Given the description of an element on the screen output the (x, y) to click on. 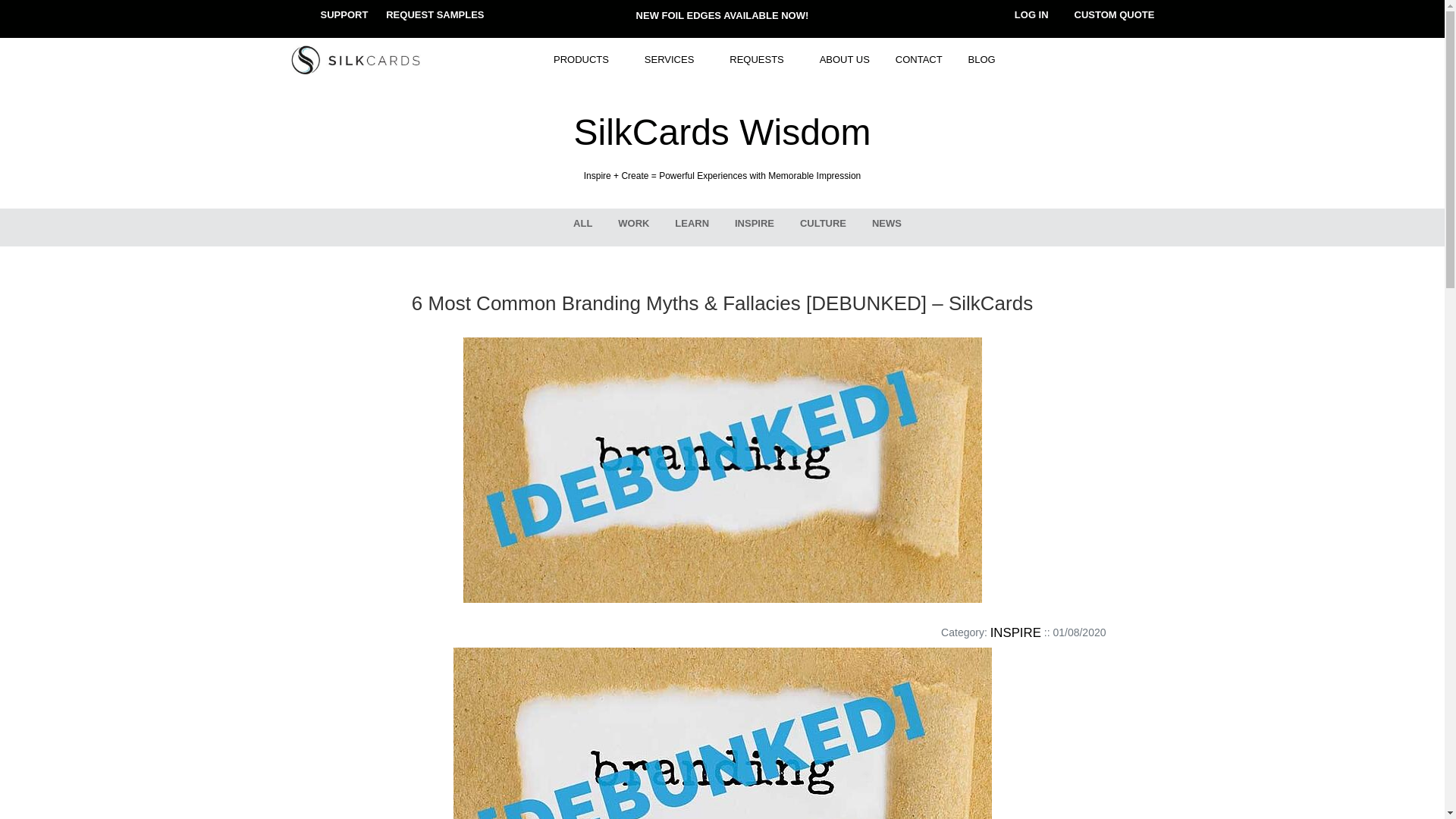
PRODUCTS (585, 60)
REQUESTS (761, 60)
SUPPORT (344, 14)
REQUEST SAMPLES (434, 14)
SERVICES (674, 60)
CONTACT (918, 60)
LOG IN (1031, 14)
ABOUT US (844, 60)
CUSTOM QUOTE (1114, 14)
